Given the description of an element on the screen output the (x, y) to click on. 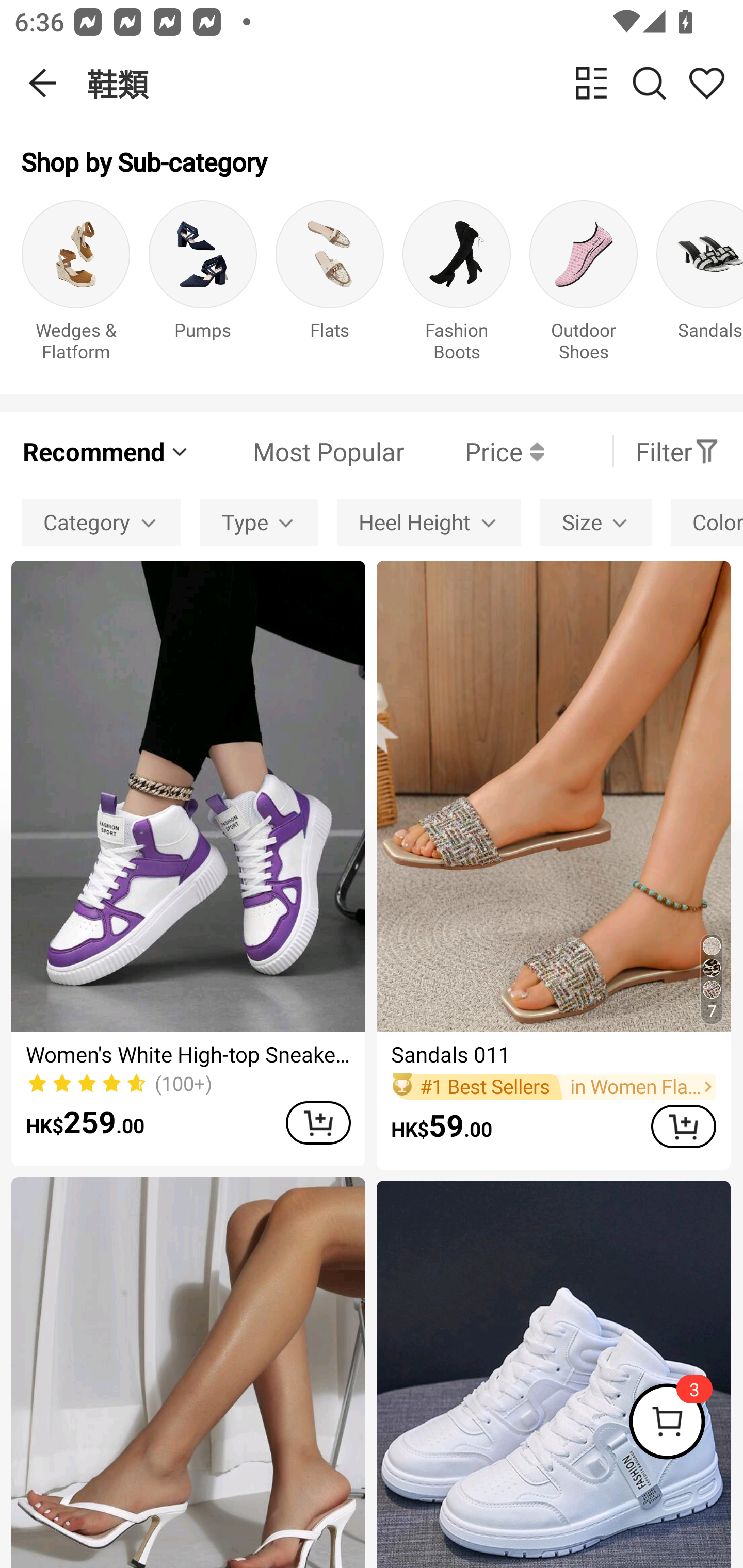
鞋類 change view Search Share (414, 82)
change view (591, 82)
Search (648, 82)
Share (706, 82)
Wedges & Flatform (75, 285)
Pumps (202, 285)
Flats (329, 285)
Fashion Boots (456, 285)
Outdoor Shoes (583, 285)
Sandals (699, 285)
Recommend (106, 450)
Most Popular (297, 450)
Price (474, 450)
Filter (677, 450)
Category (101, 521)
Type (258, 521)
Heel Height (428, 521)
Size (595, 521)
Color (706, 521)
#1 Best Sellers in Women Flat Sandals (553, 1086)
ADD TO CART (318, 1122)
ADD TO CART (683, 1126)
